Given the description of an element on the screen output the (x, y) to click on. 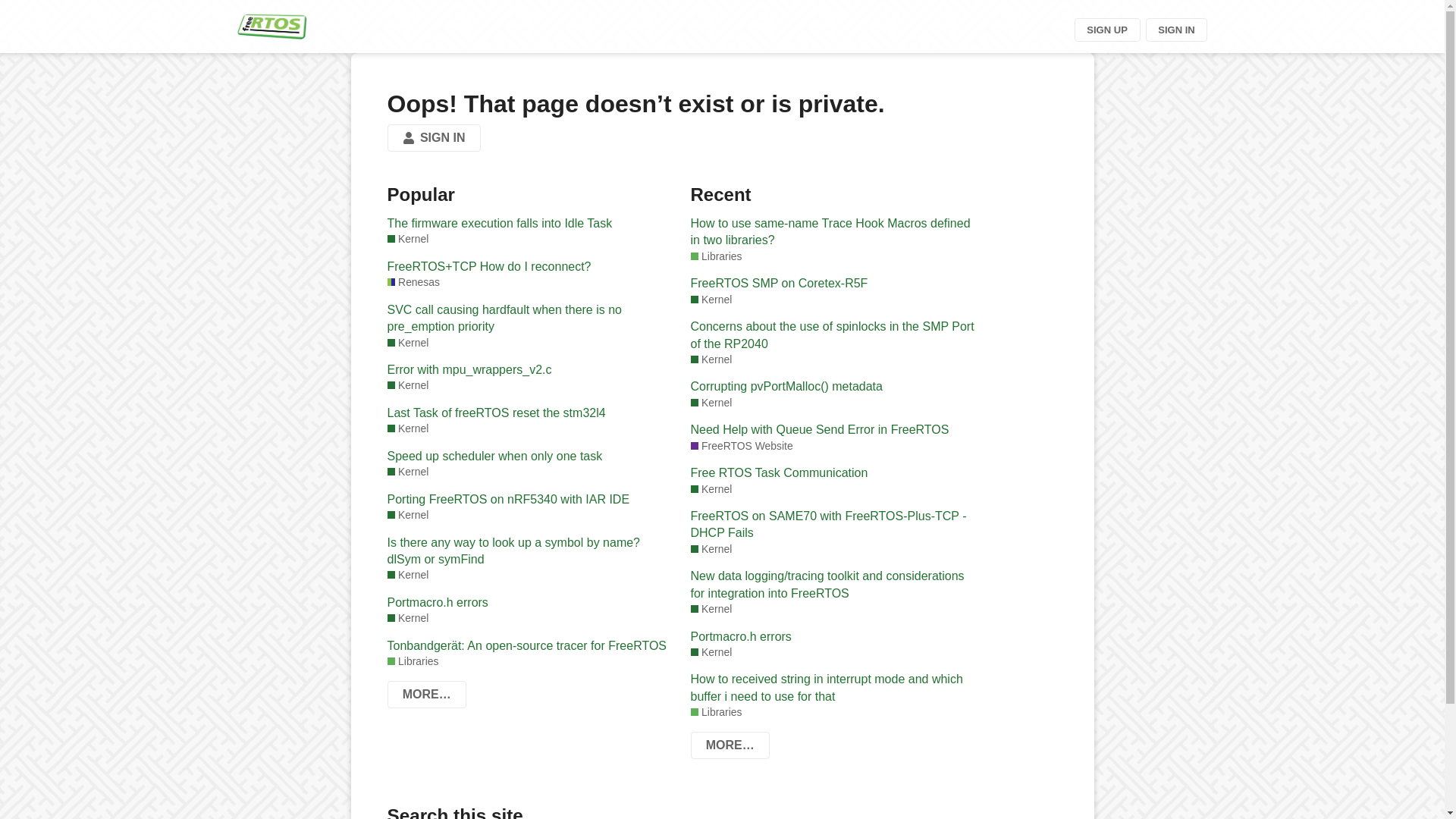
FreeRTOS Website (741, 445)
Speed up scheduler when only one task (531, 456)
Kernel (407, 617)
Conversation focused around the FreeRTOS kernel. (407, 617)
Portmacro.h errors (531, 602)
SIGN IN (433, 137)
Conversation focused around the FreeRTOS kernel. (711, 359)
Conversation focused around the FreeRTOS kernel. (711, 608)
Conversation focused around the FreeRTOS kernel. (407, 342)
Kernel (407, 472)
Conversation focused around the FreeRTOS kernel. (711, 549)
Last Task of freeRTOS reset the stm32l4 (531, 412)
